Given the description of an element on the screen output the (x, y) to click on. 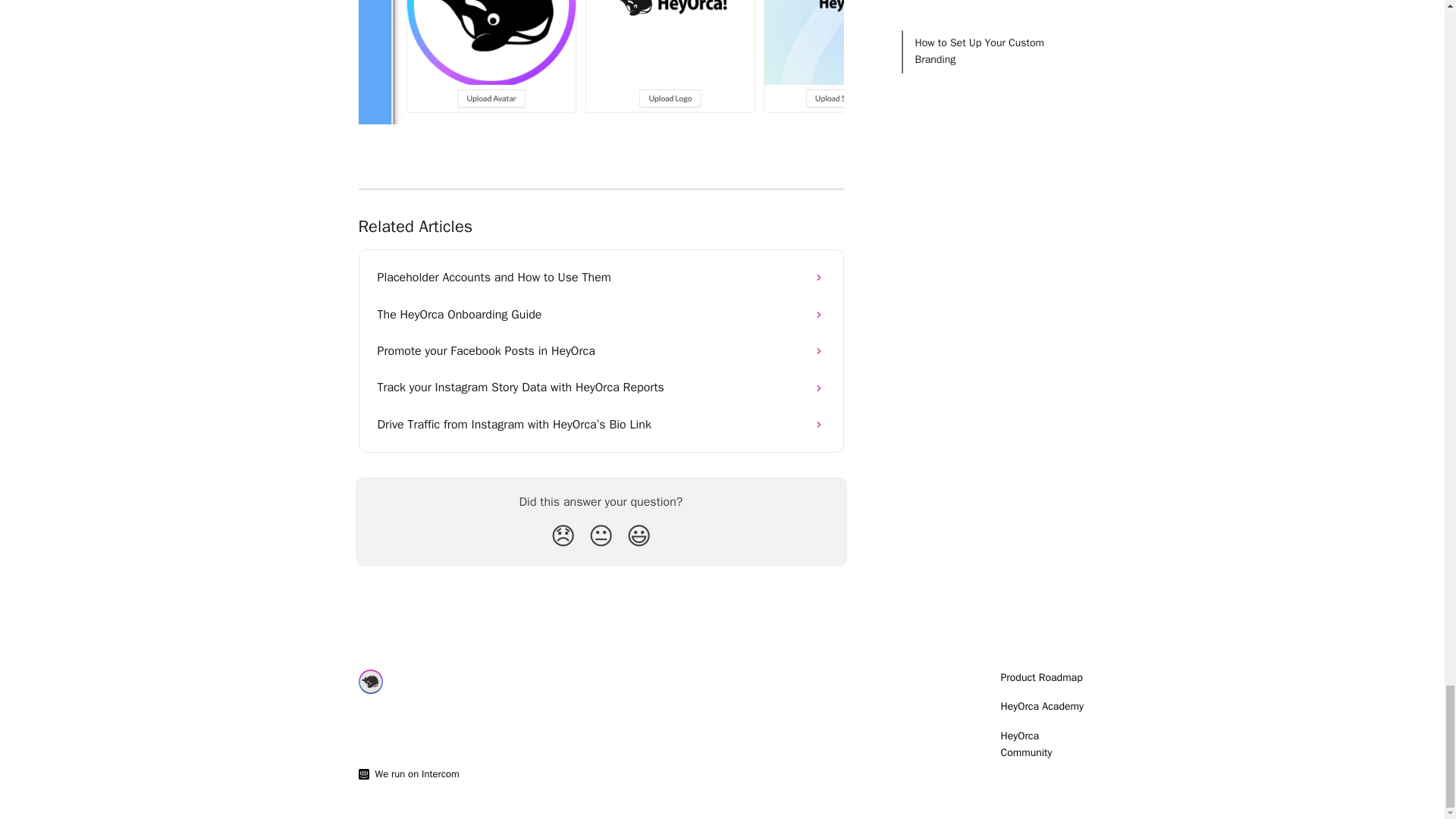
The HeyOrca Onboarding Guide (601, 313)
Track your Instagram Story Data with HeyOrca Reports (601, 387)
We run on Intercom (413, 774)
HeyOrca Academy (1042, 706)
Product Roadmap (1042, 676)
Placeholder Accounts and How to Use Them (601, 277)
Promote your Facebook Posts in HeyOrca (601, 350)
